Given the description of an element on the screen output the (x, y) to click on. 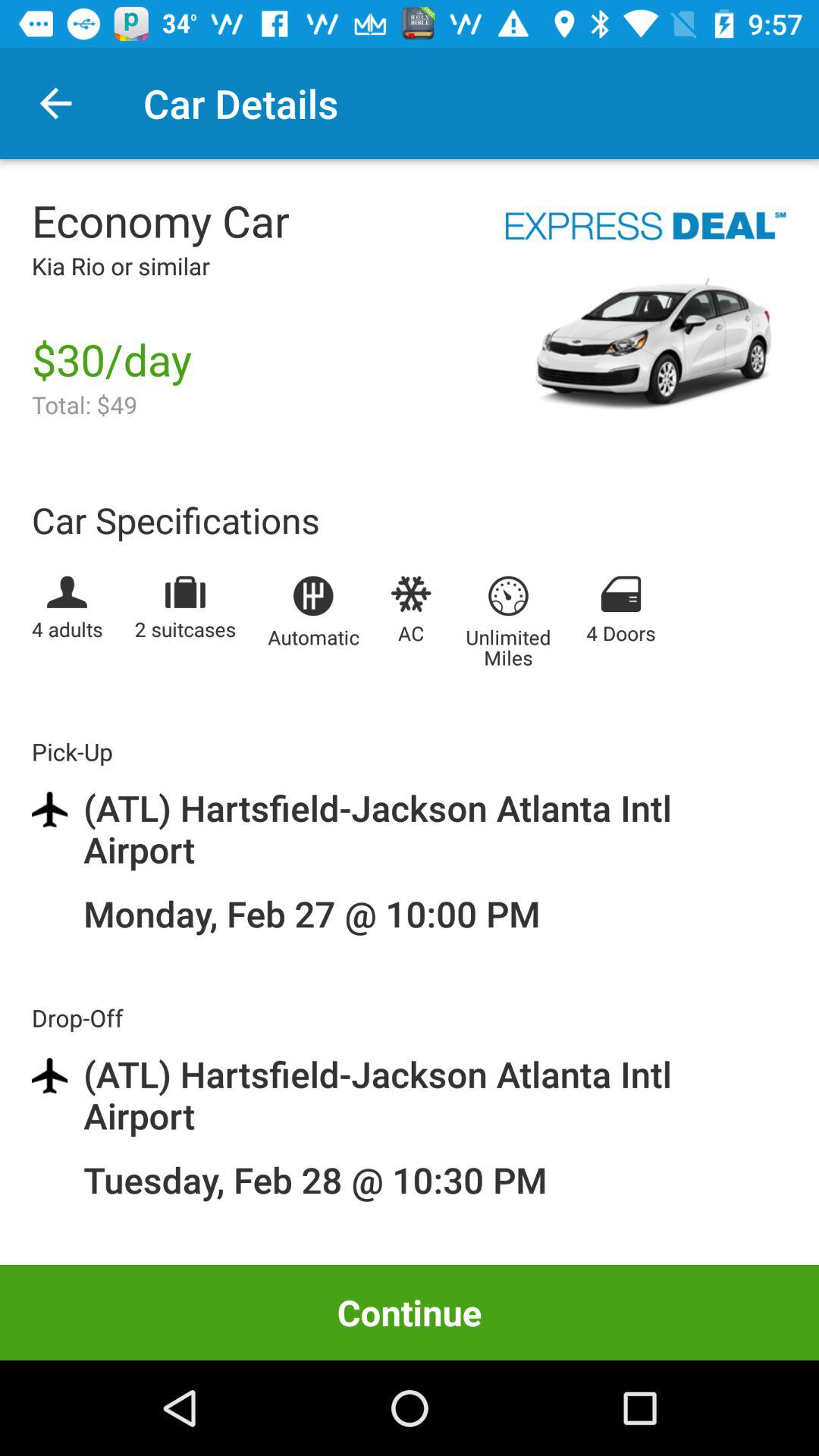
click item below the tuesday feb 28 (409, 1312)
